Given the description of an element on the screen output the (x, y) to click on. 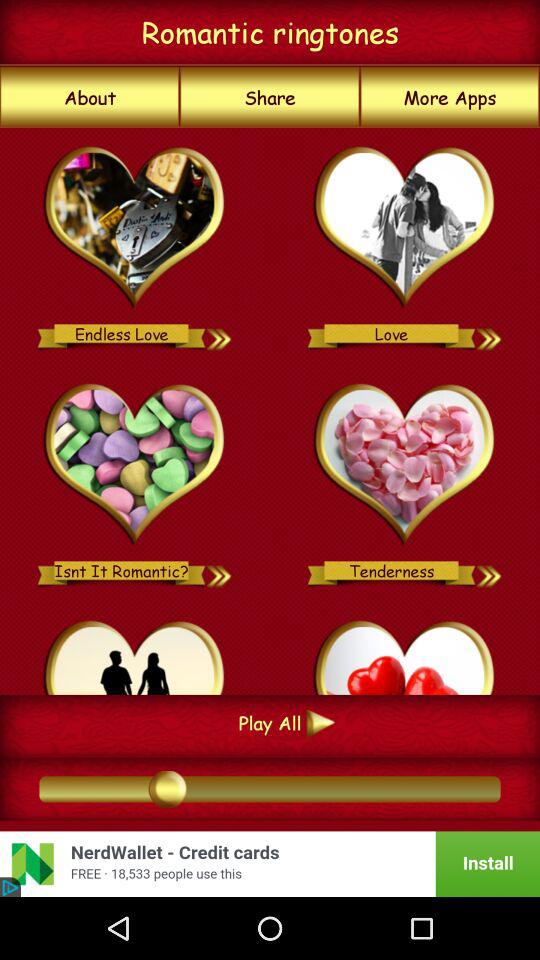
play isnt it romantic ringtone (220, 570)
